Given the description of an element on the screen output the (x, y) to click on. 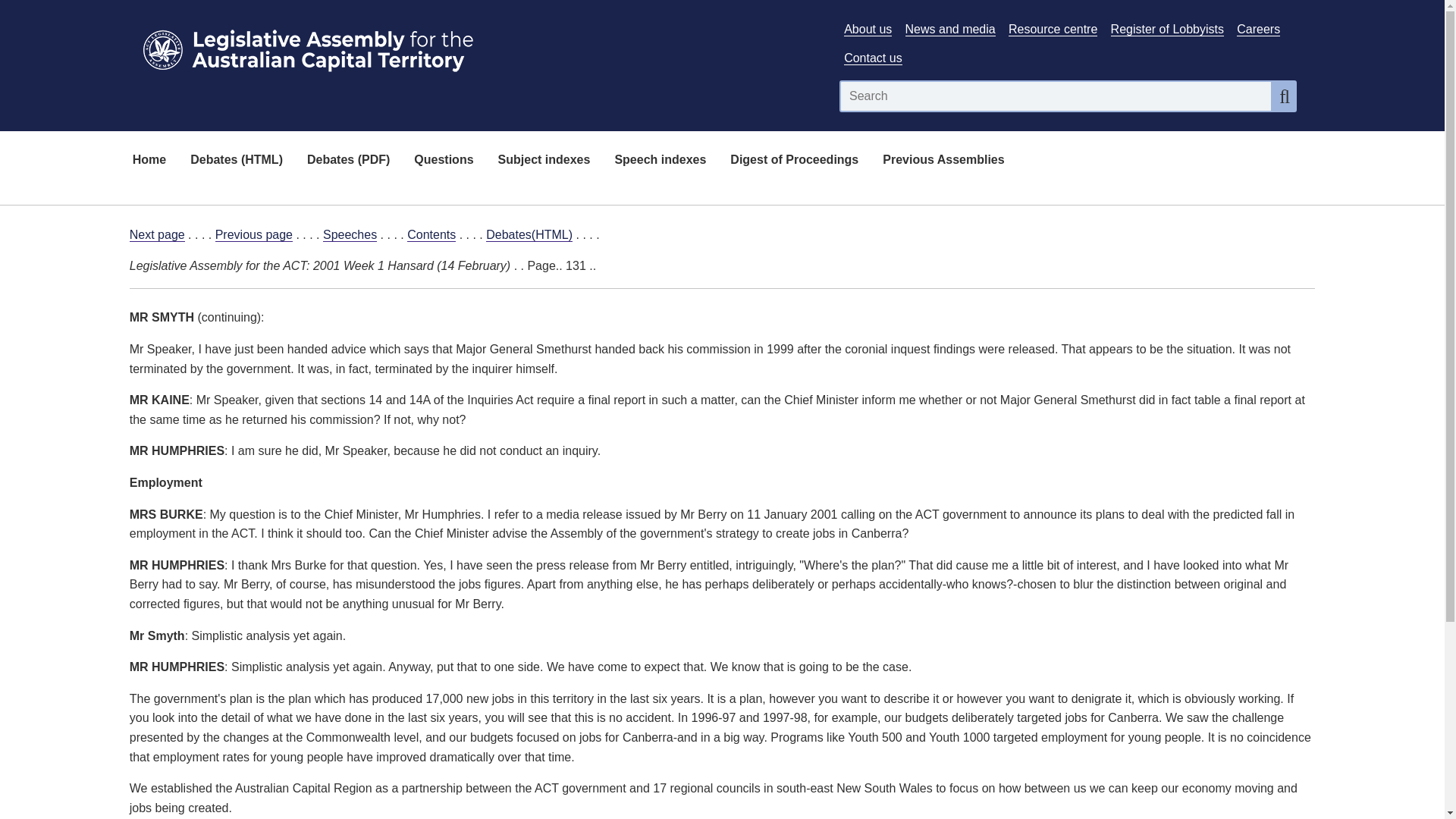
Register of Lobbyists (1167, 29)
Careers (1257, 29)
Subject indexes (544, 160)
Link to Careers (1257, 29)
Link to News and media (950, 29)
Speeches (350, 234)
Home (148, 160)
Previous Assemblies (943, 160)
About us (867, 29)
Link to About Us (867, 29)
